Given the description of an element on the screen output the (x, y) to click on. 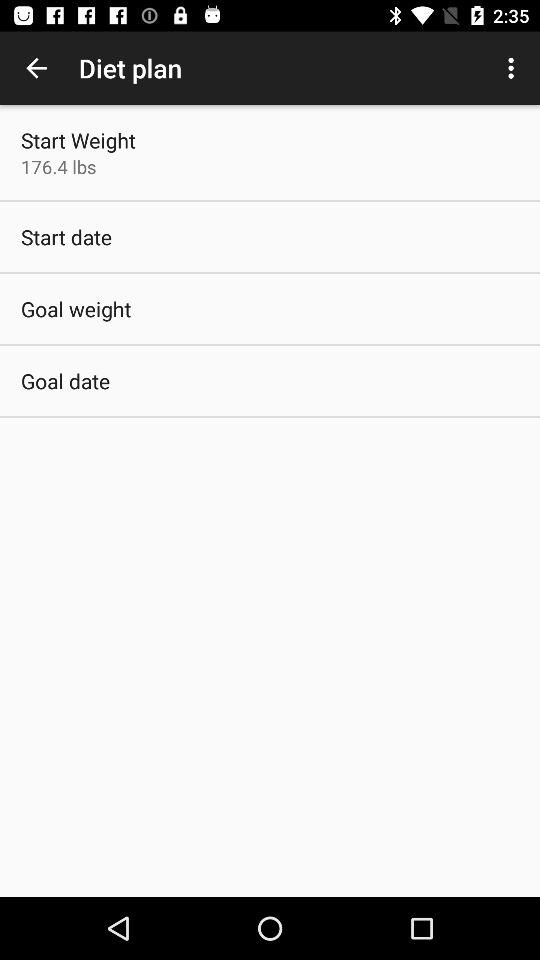
turn off start date (66, 236)
